Given the description of an element on the screen output the (x, y) to click on. 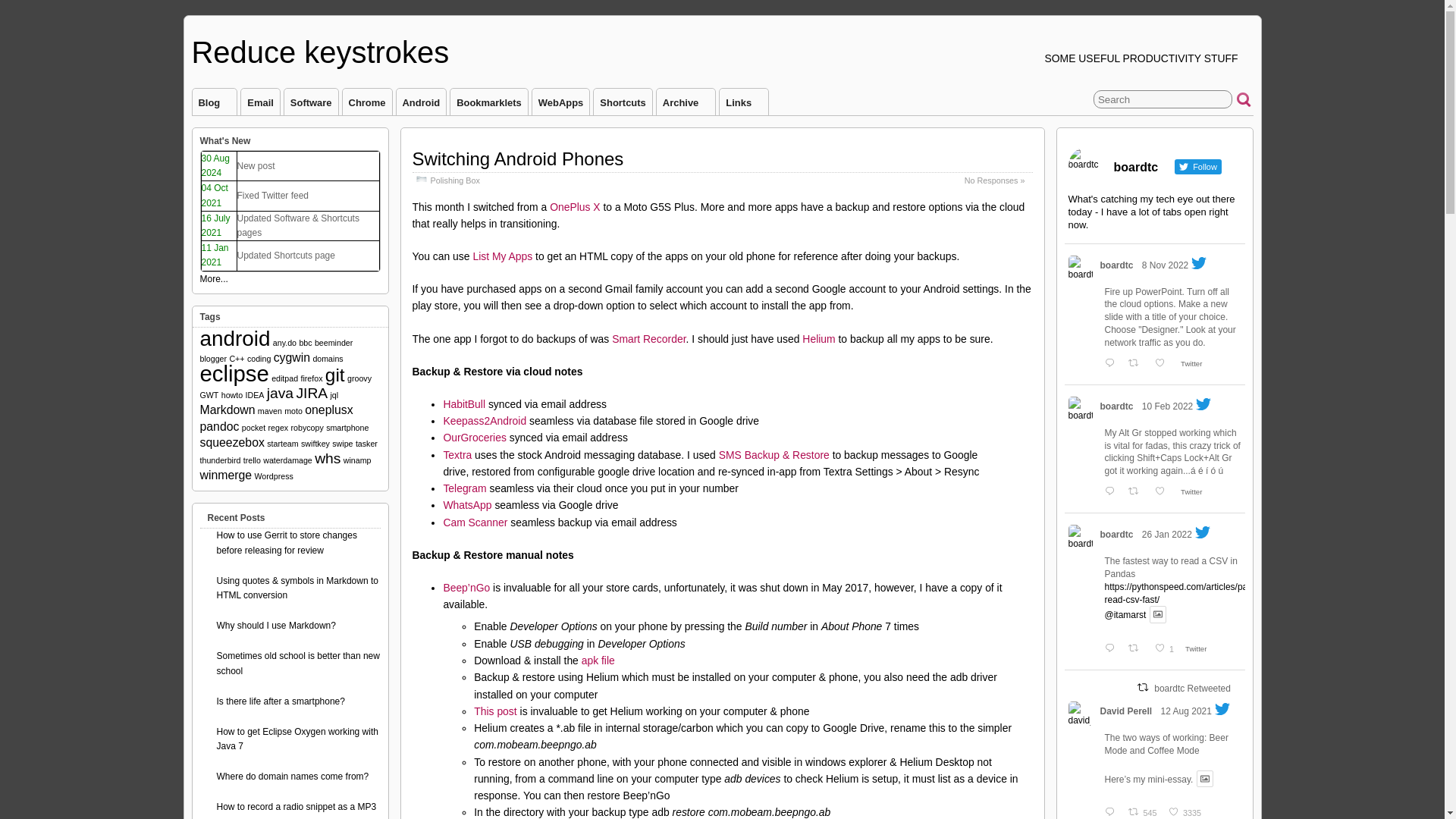
List My Apps (501, 256)
OnePlus X (574, 206)
Smart Recorder (648, 338)
Chrome (366, 101)
 Blog (214, 101)
Telegram (464, 488)
Helium (818, 338)
Switching Android Phones (518, 158)
Switching Android Phones (518, 158)
WebApps (560, 101)
